Given the description of an element on the screen output the (x, y) to click on. 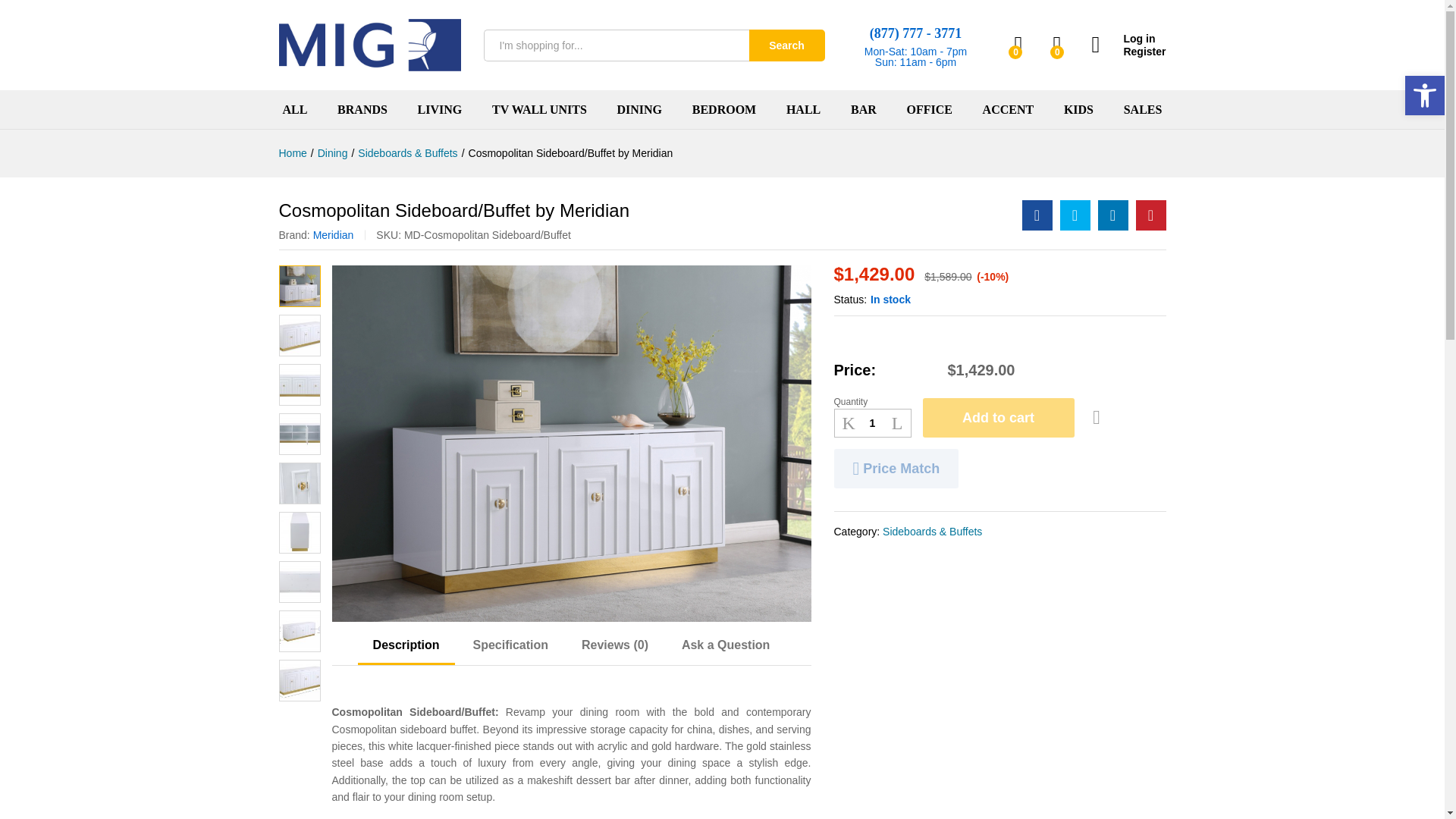
Search (787, 45)
ALL (294, 110)
Add to Wishlist (1096, 417)
Accessibility Tools (1424, 95)
1 (871, 422)
Log in (1128, 38)
BRANDS (362, 110)
Register (1128, 51)
